Given the description of an element on the screen output the (x, y) to click on. 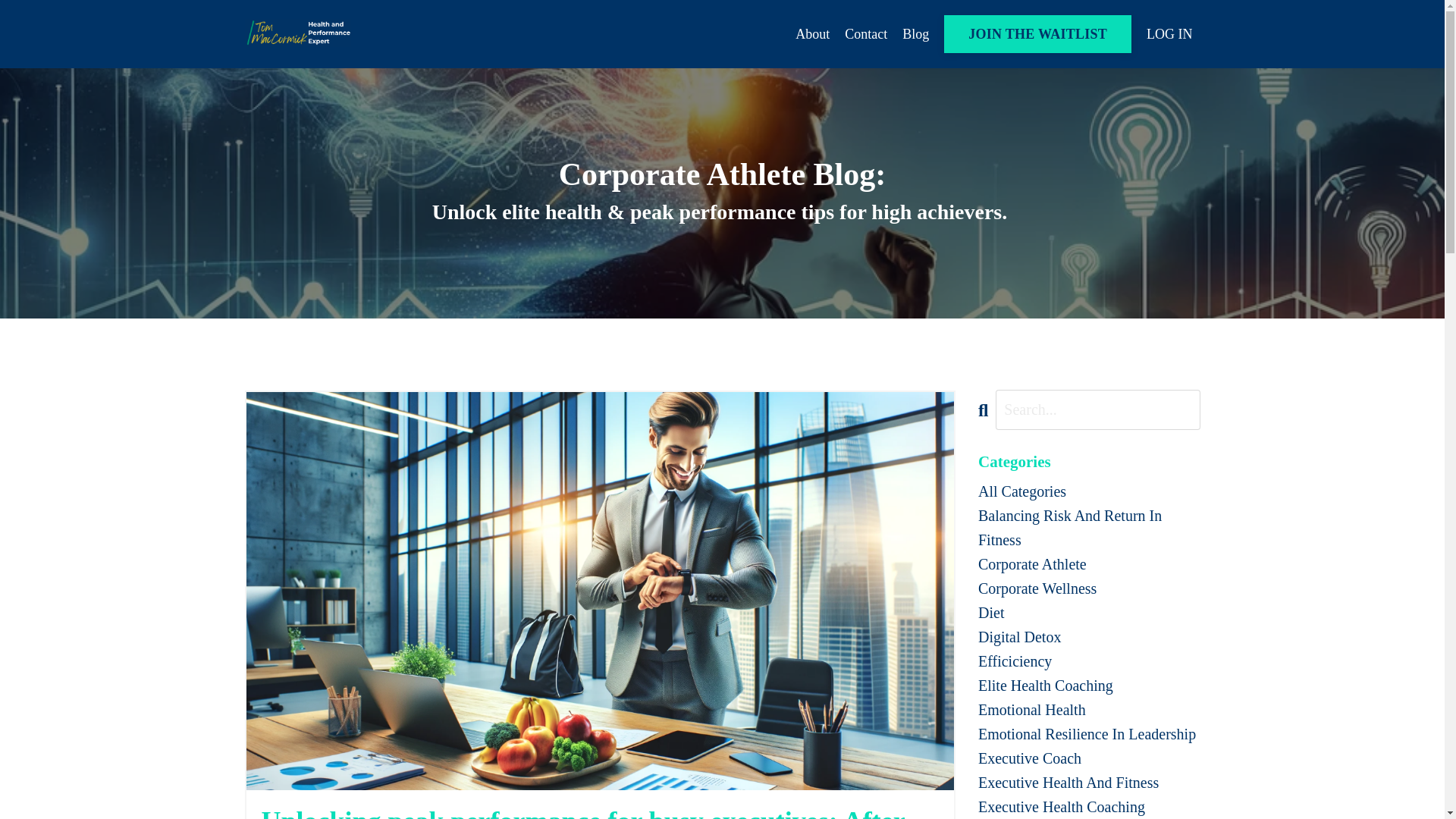
Balancing Risk And Return In Fitness (1088, 527)
Emotional Resilience In Leadership (1088, 733)
Corporate Wellness (1088, 588)
Emotional Health (1088, 709)
Elite Health Coaching (1088, 685)
Corporate Athlete (1088, 564)
LOG IN (1169, 33)
Executive Coach (1088, 758)
Diet (1088, 612)
Contact (865, 34)
Efficiciency (1088, 661)
Digital Detox (1088, 636)
About (811, 34)
Executive Health And Fitness (1088, 782)
JOIN THE WAITLIST (1037, 34)
